Given the description of an element on the screen output the (x, y) to click on. 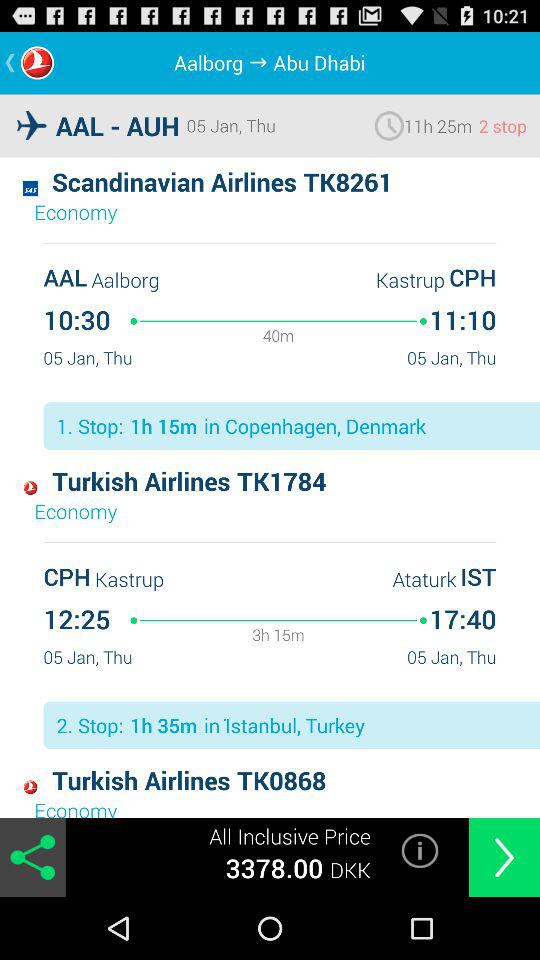
click flight icon before aal in the top of the page (31, 125)
click on the button which is right side of the aalborg (261, 62)
